Given the description of an element on the screen output the (x, y) to click on. 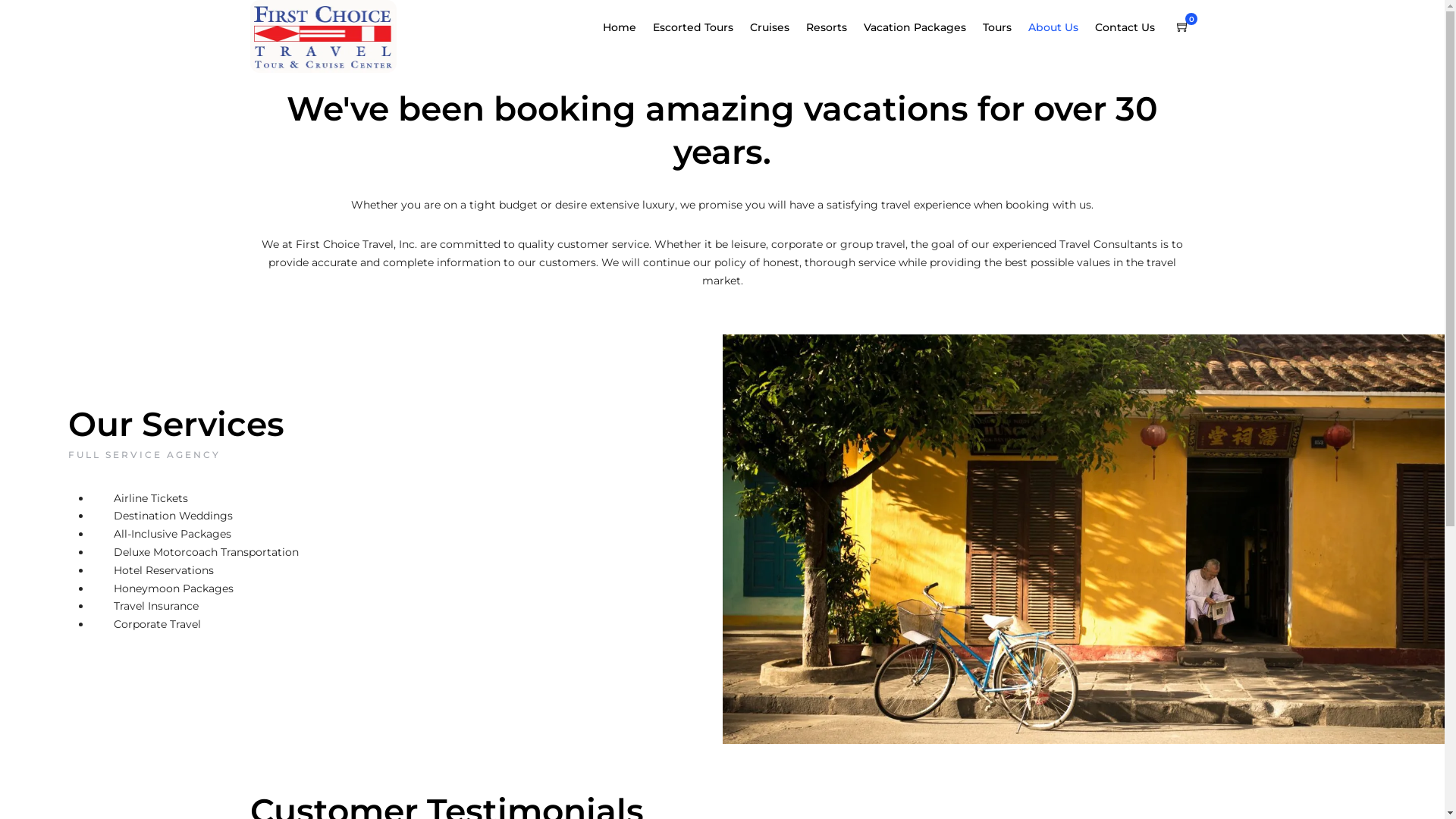
Contact Us Element type: text (1131, 27)
Home Element type: text (625, 27)
About Us Element type: text (1059, 27)
Vacation Packages Element type: text (921, 27)
Resorts Element type: text (832, 27)
Cruises Element type: text (775, 27)
Tours Element type: text (1003, 27)
Escorted Tours Element type: text (699, 27)
View Cart Element type: hover (1182, 26)
